Given the description of an element on the screen output the (x, y) to click on. 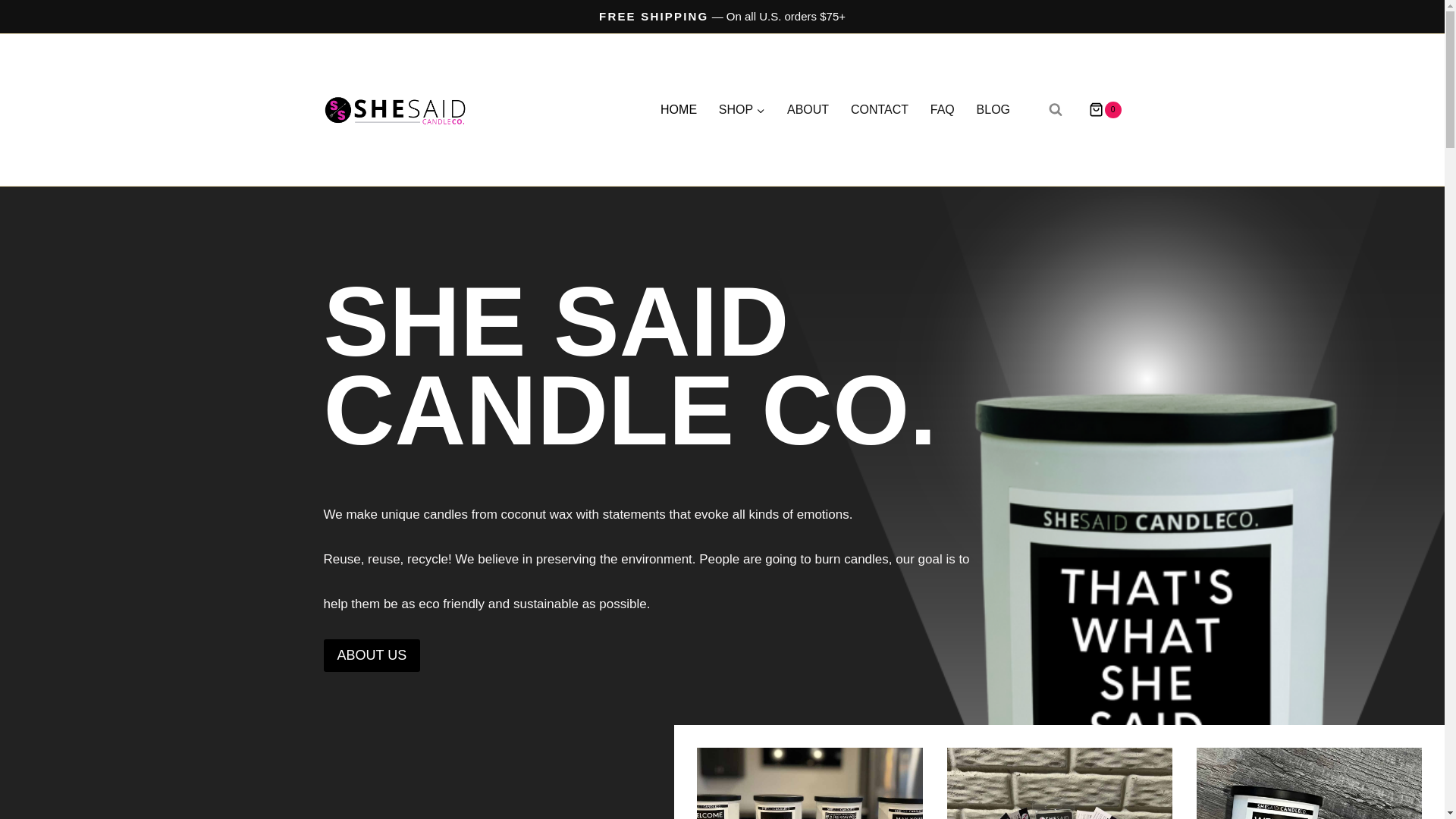
HOME (678, 110)
CONTACT (879, 110)
0 (1099, 109)
ABOUT US (371, 655)
ABOUT (808, 110)
FAQ (941, 110)
SHOP (741, 110)
BLOG (992, 110)
